Given the description of an element on the screen output the (x, y) to click on. 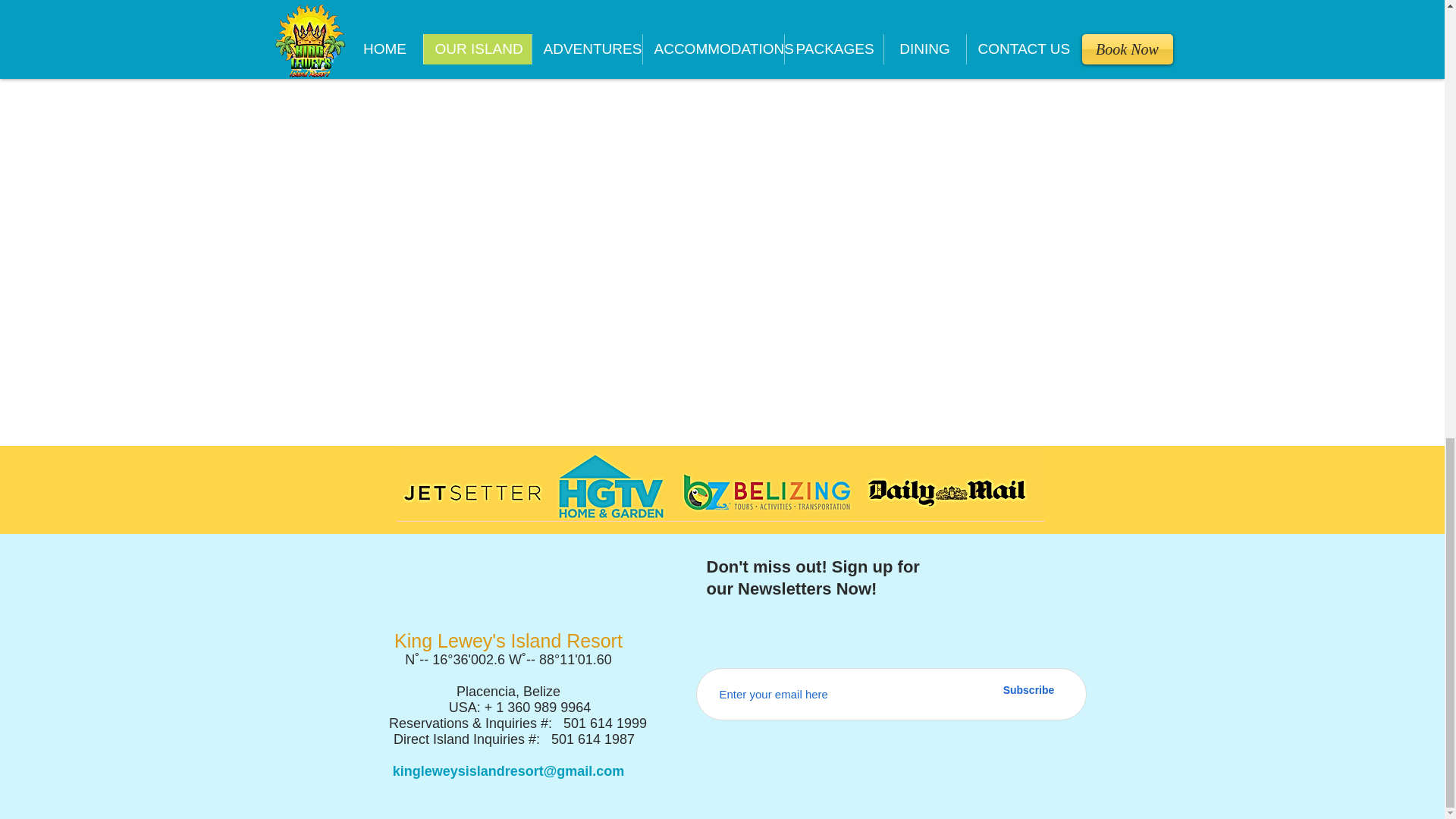
Subscribe (1028, 690)
